Given the description of an element on the screen output the (x, y) to click on. 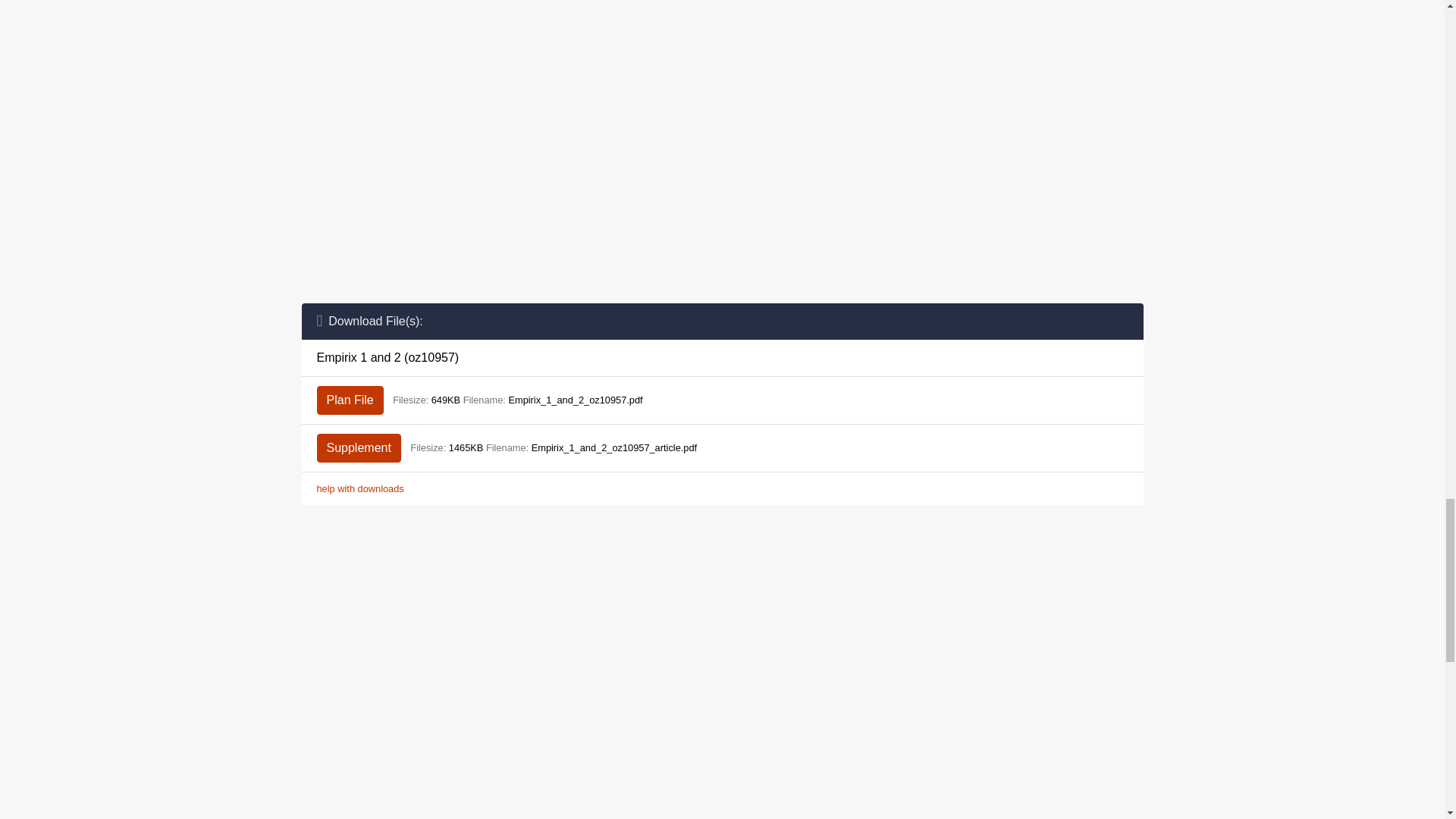
Supplement (359, 448)
help with downloads (360, 488)
Plan File (350, 399)
